Given the description of an element on the screen output the (x, y) to click on. 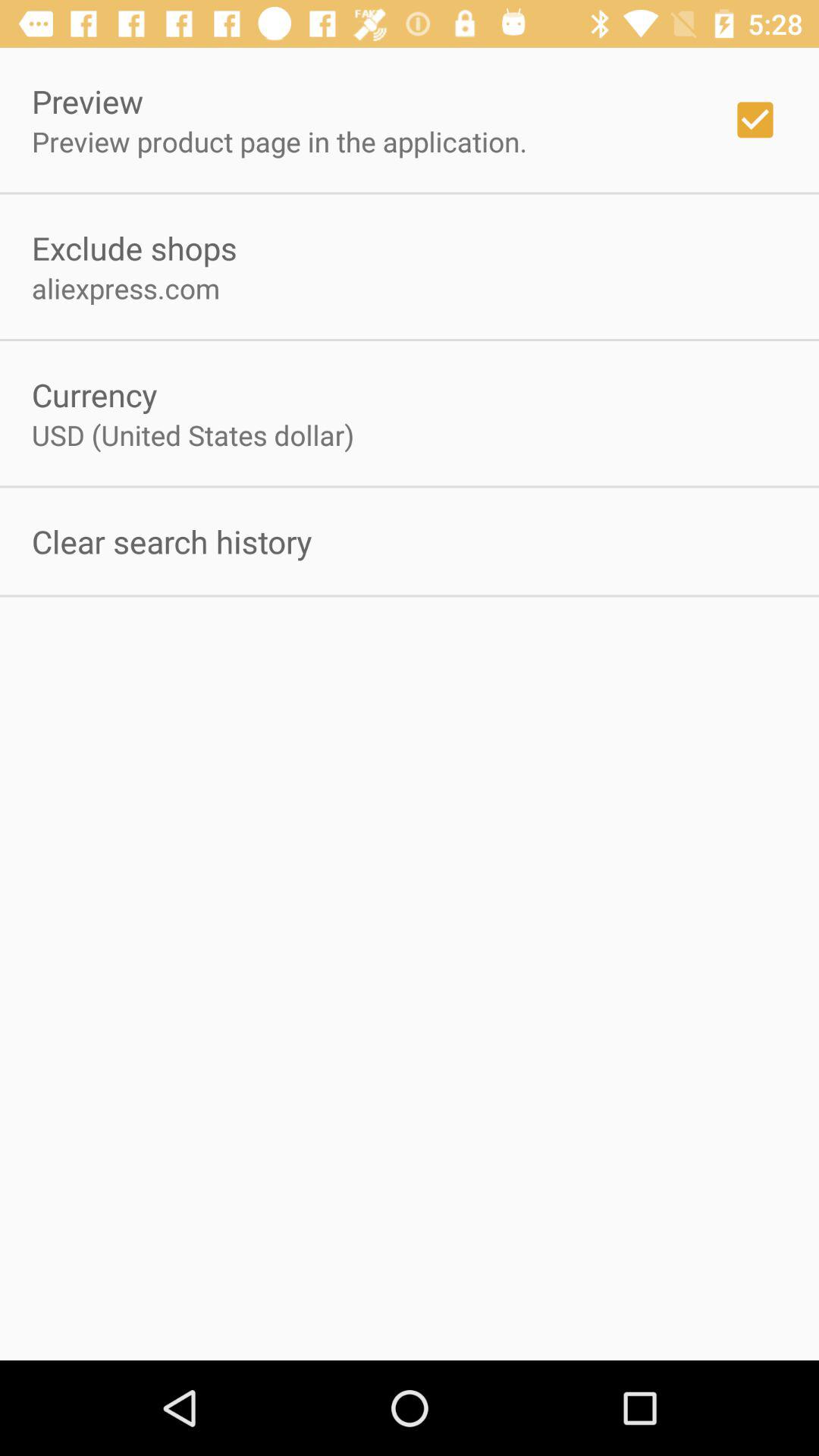
turn on clear search history on the left (171, 541)
